Given the description of an element on the screen output the (x, y) to click on. 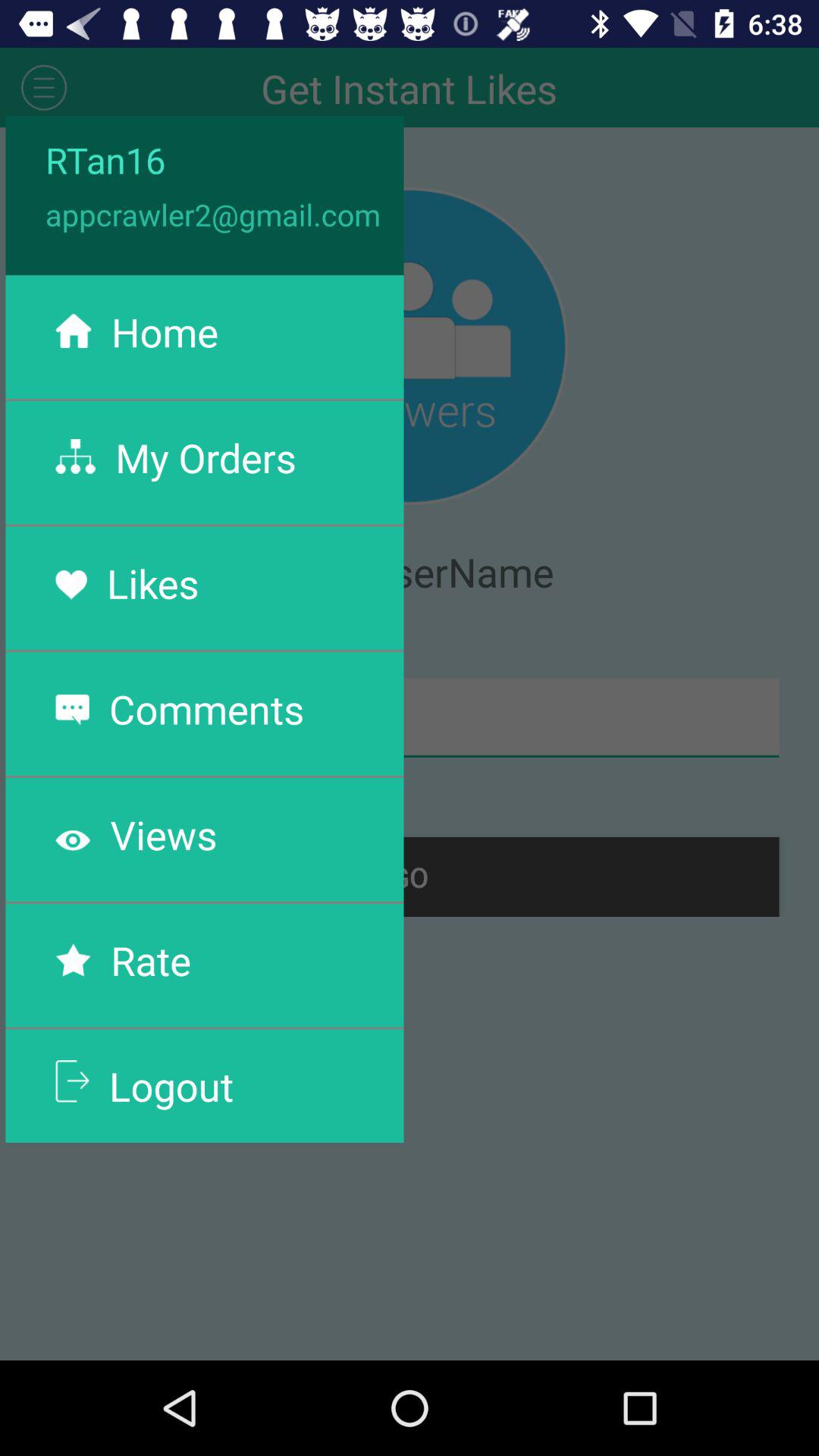
turn on the views icon (163, 834)
